Given the description of an element on the screen output the (x, y) to click on. 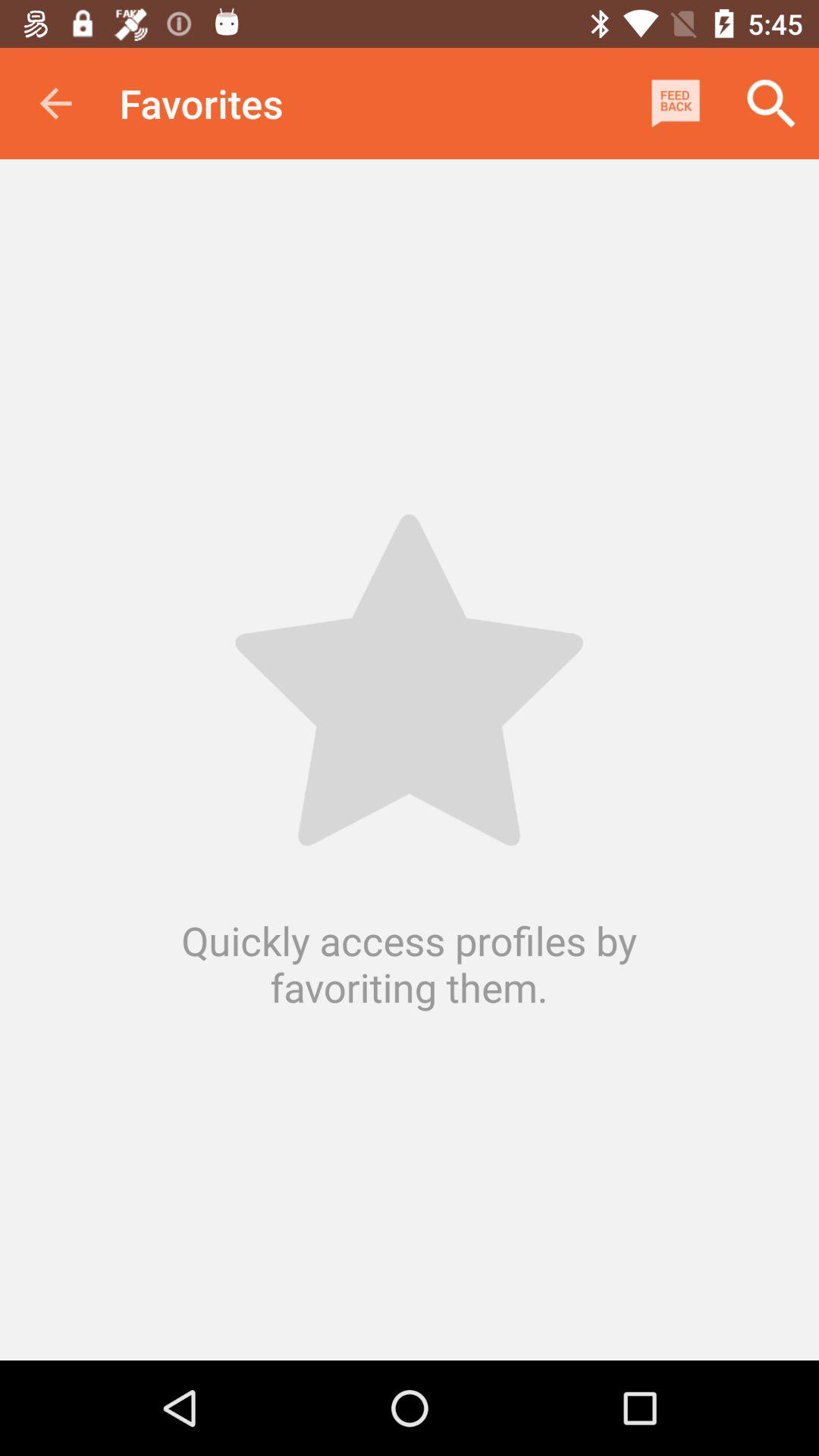
click app next to favorites icon (55, 103)
